Given the description of an element on the screen output the (x, y) to click on. 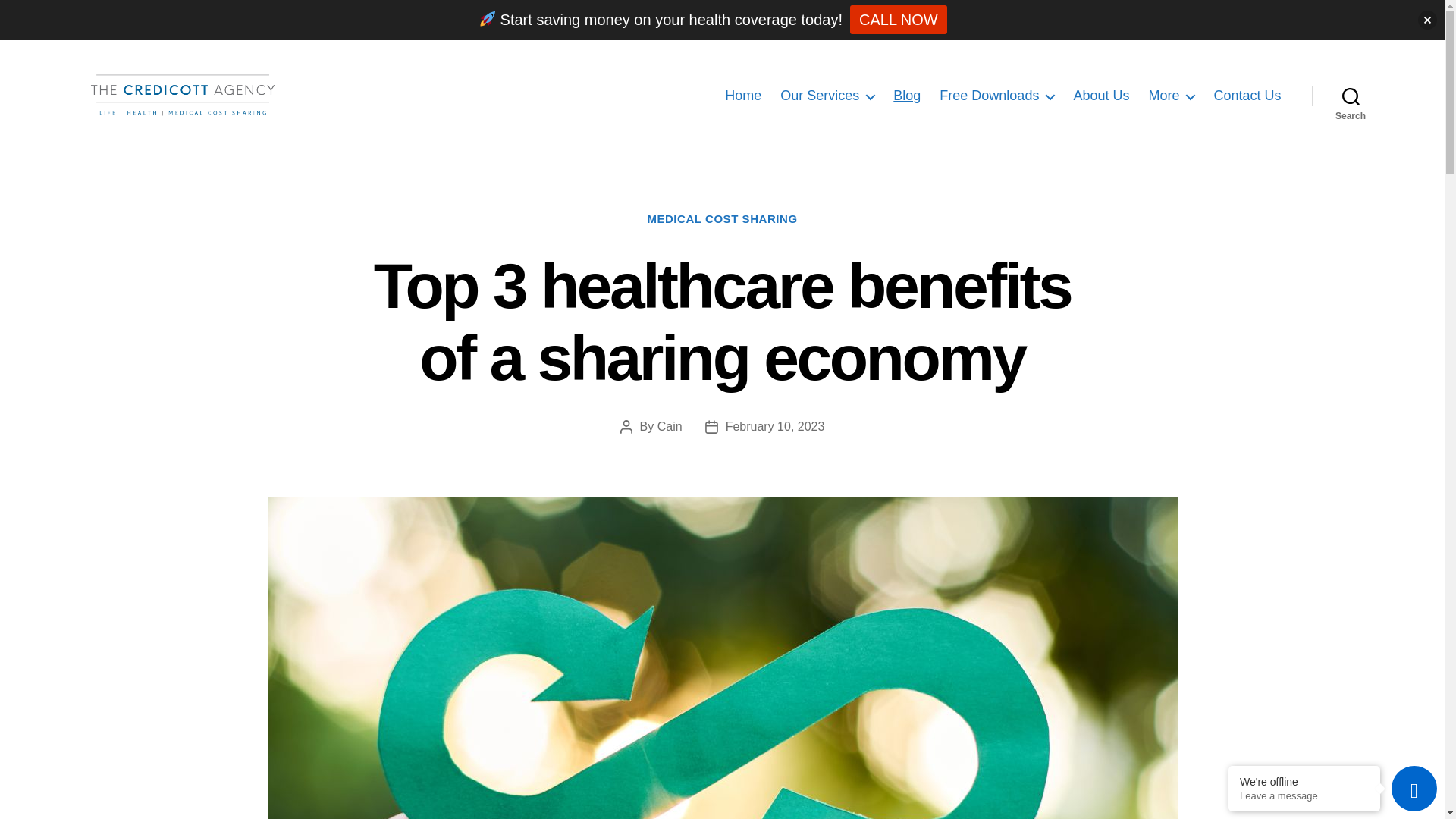
Contact Us (1246, 95)
We're offline (1304, 781)
More (1170, 95)
About Us (1101, 95)
Our Services (827, 95)
Leave a message (1304, 795)
Home (743, 95)
Free Downloads (996, 95)
Blog (906, 95)
Search (1350, 96)
